Given the description of an element on the screen output the (x, y) to click on. 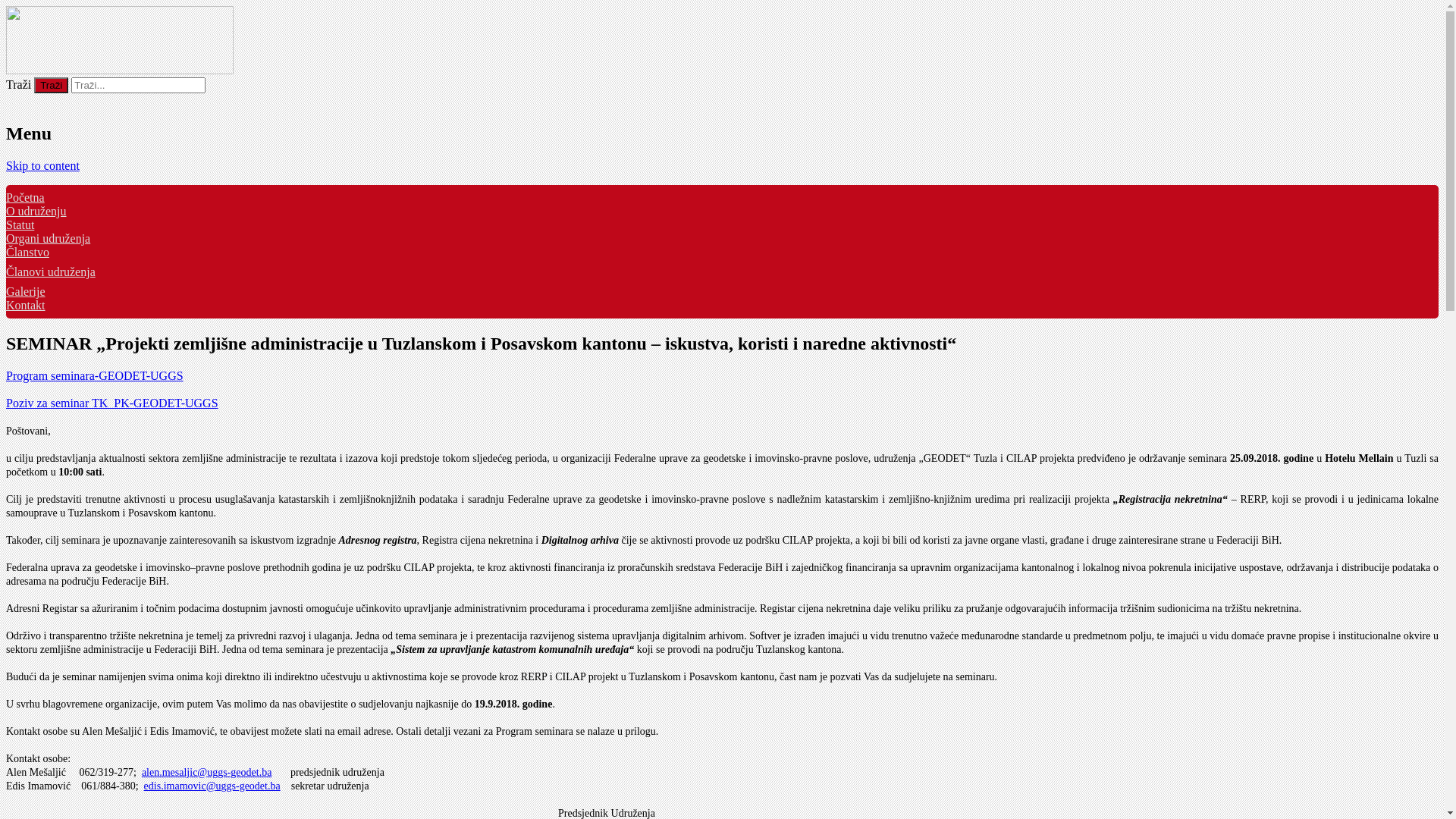
ab.tedoeg-sggu@civomami.side Element type: text (212, 785)
ab.tedoeg-sggu@cijlasem.nela Element type: text (206, 772)
Skip to content Element type: text (42, 165)
Program seminara-GEODET-UGGS Element type: text (94, 375)
Statut Element type: text (20, 224)
Poziv za seminar TK_PK-GEODET-UGGS Element type: text (112, 402)
Galerije Element type: text (25, 291)
Kontakt Element type: text (25, 304)
